Given the description of an element on the screen output the (x, y) to click on. 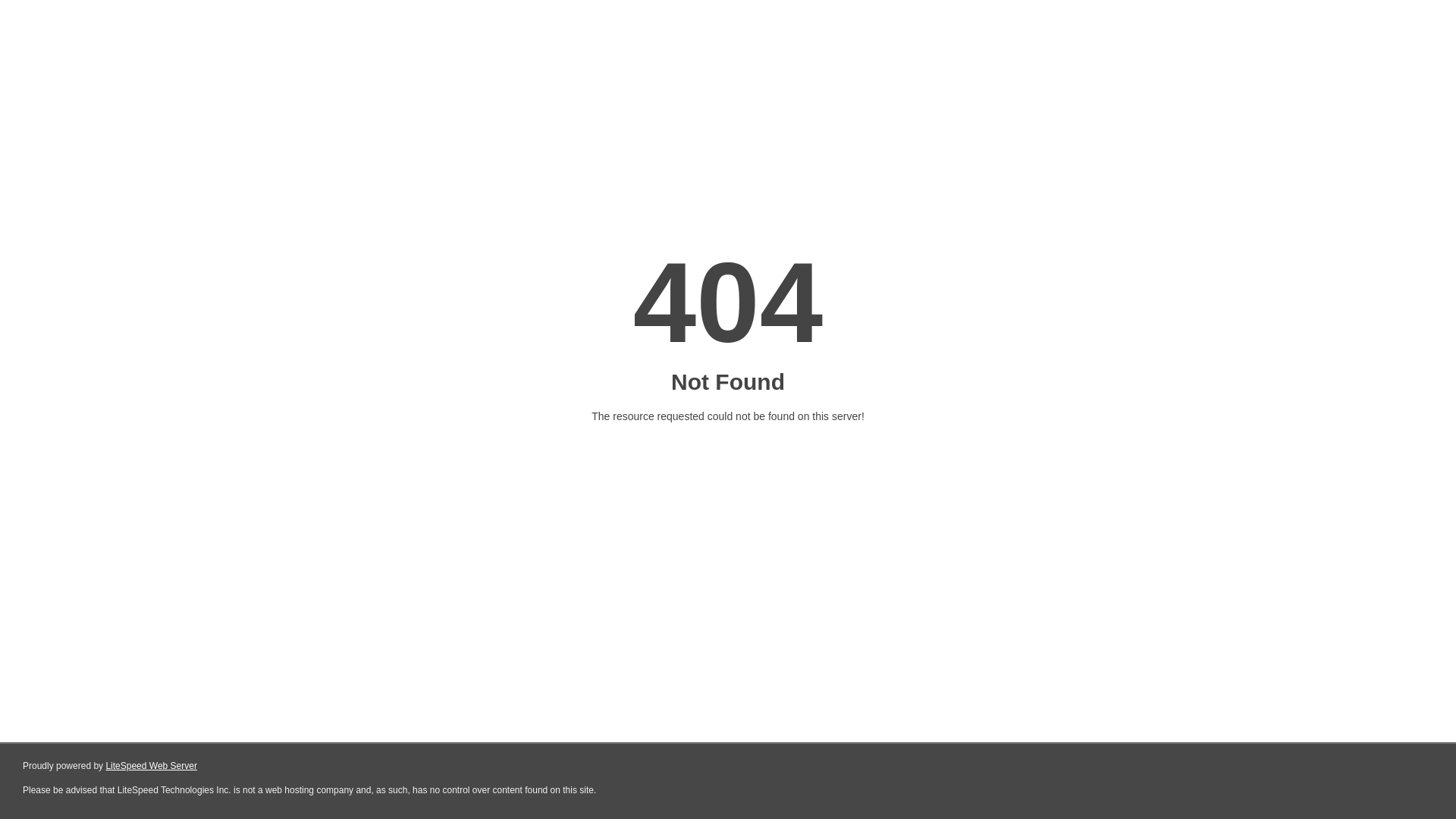
LiteSpeed Web Server Element type: text (151, 765)
